Given the description of an element on the screen output the (x, y) to click on. 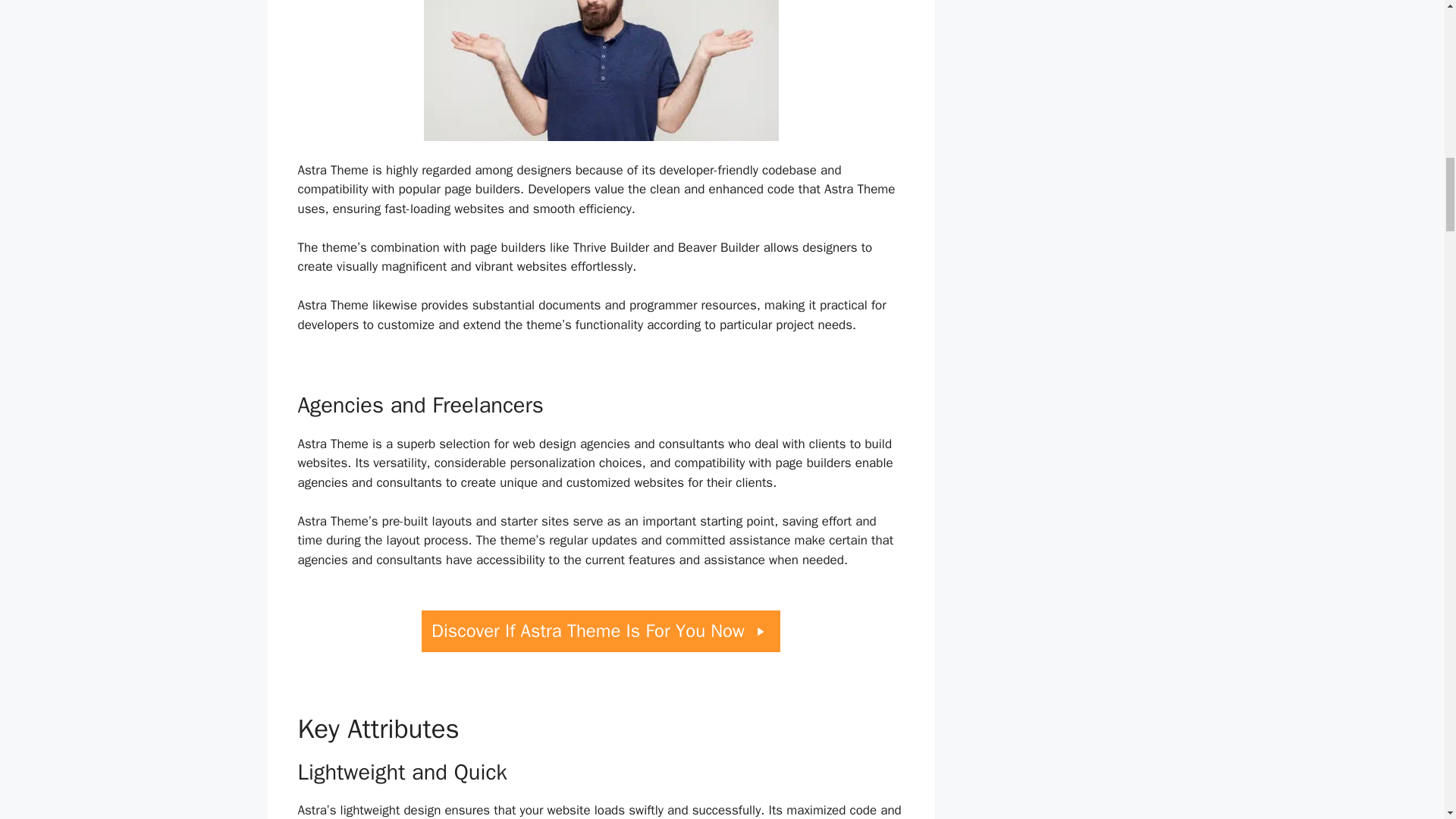
Discover If Astra Theme Is For You Now (601, 630)
